Given the description of an element on the screen output the (x, y) to click on. 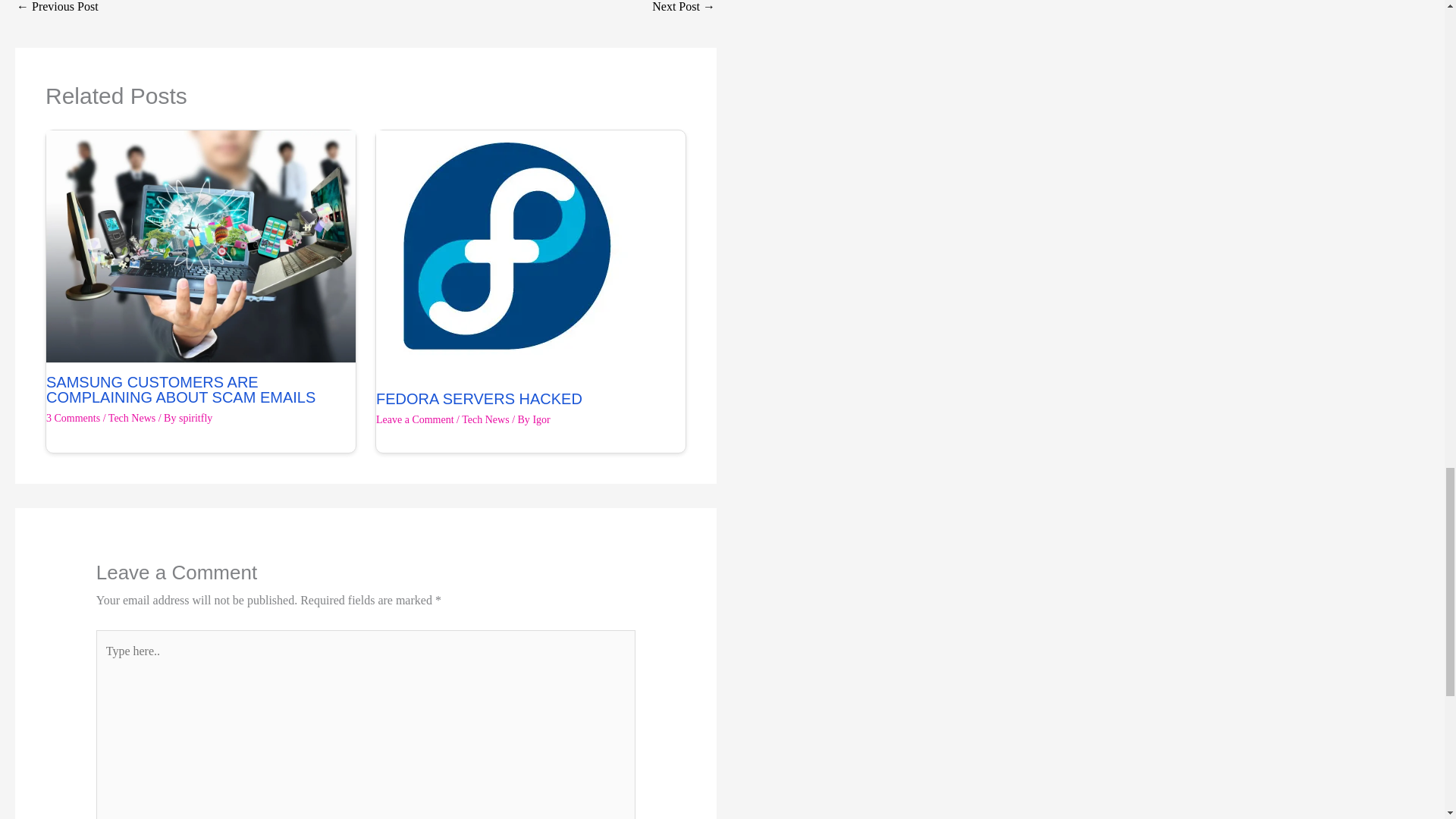
iPad Joystick from Logitech (57, 11)
View all posts by Igor (541, 419)
View all posts by spiritfly (195, 418)
